Given the description of an element on the screen output the (x, y) to click on. 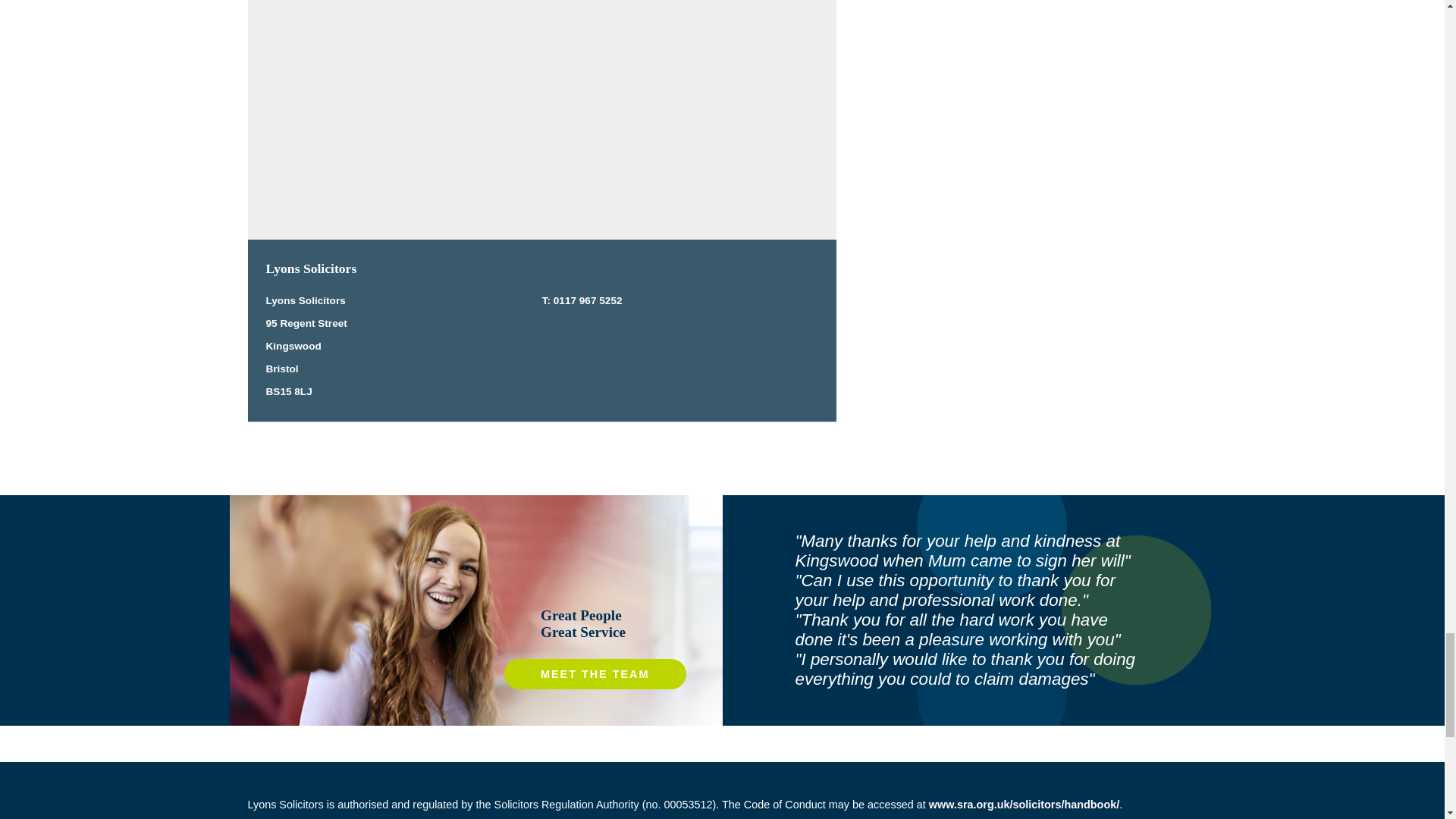
MEET THE TEAM (594, 674)
